Given the description of an element on the screen output the (x, y) to click on. 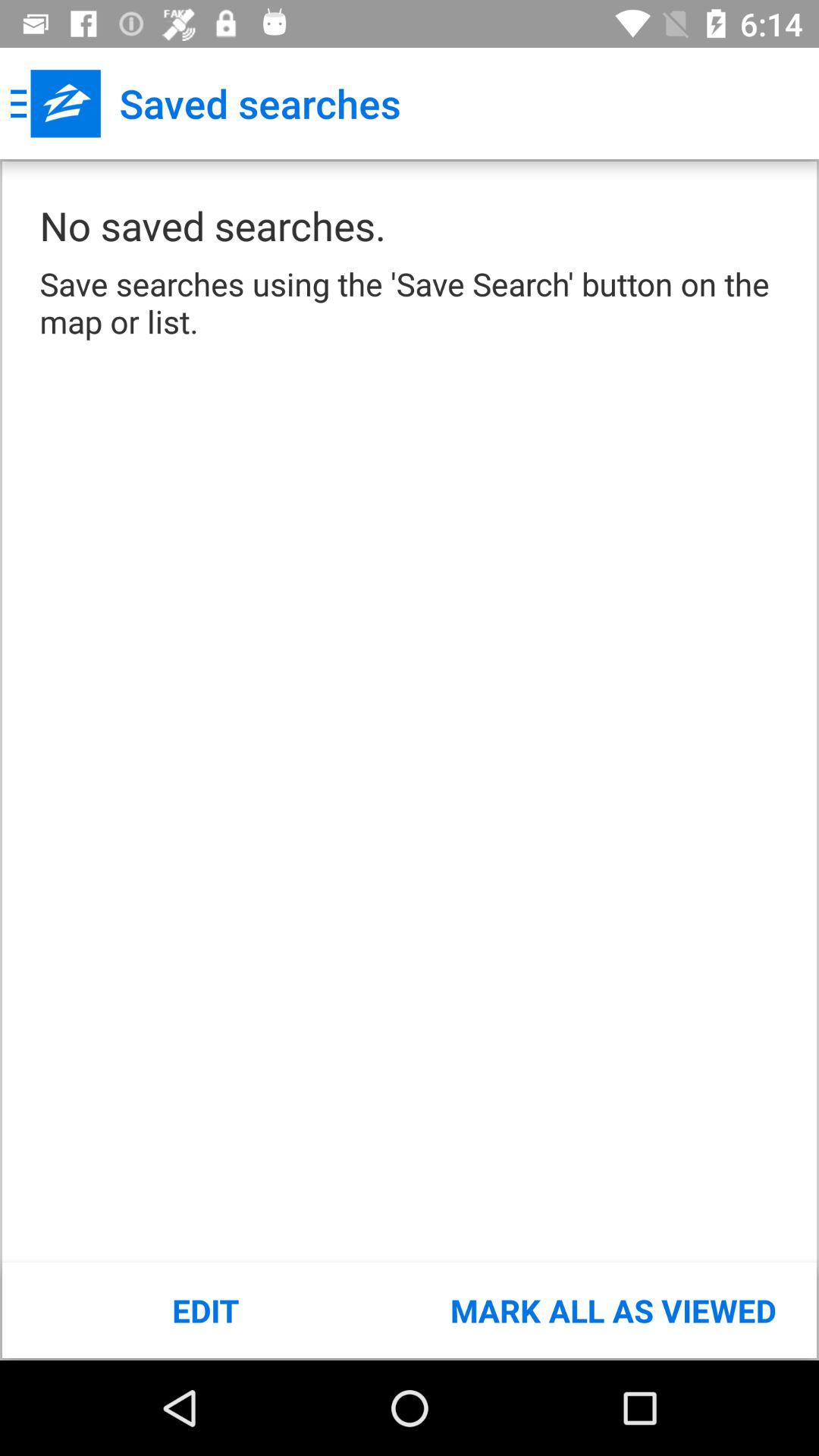
open the icon next to the edit item (612, 1310)
